Given the description of an element on the screen output the (x, y) to click on. 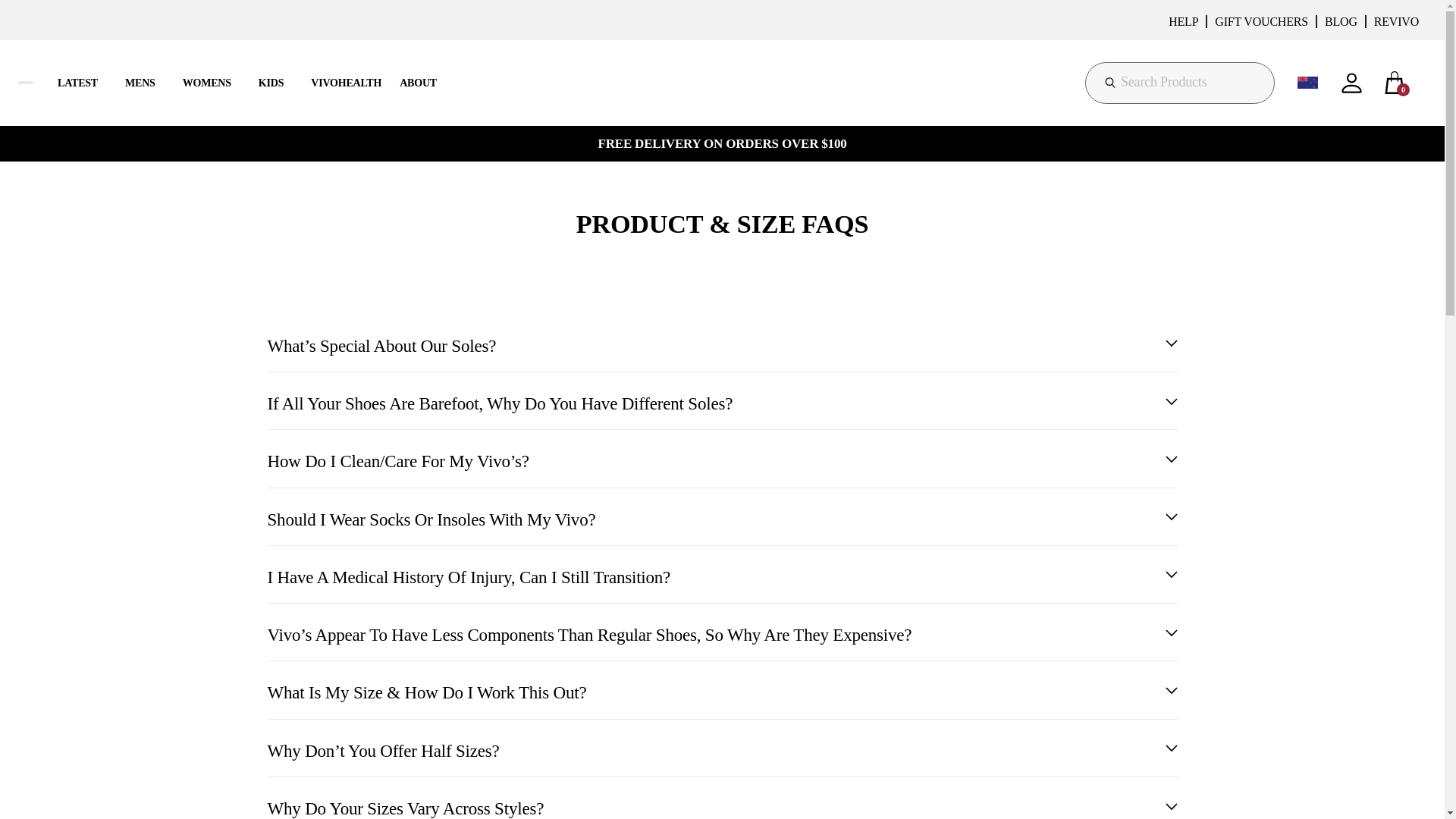
GIFT VOUCHERS (1260, 21)
BLOG (1340, 21)
REVIVO (1395, 21)
